Given the description of an element on the screen output the (x, y) to click on. 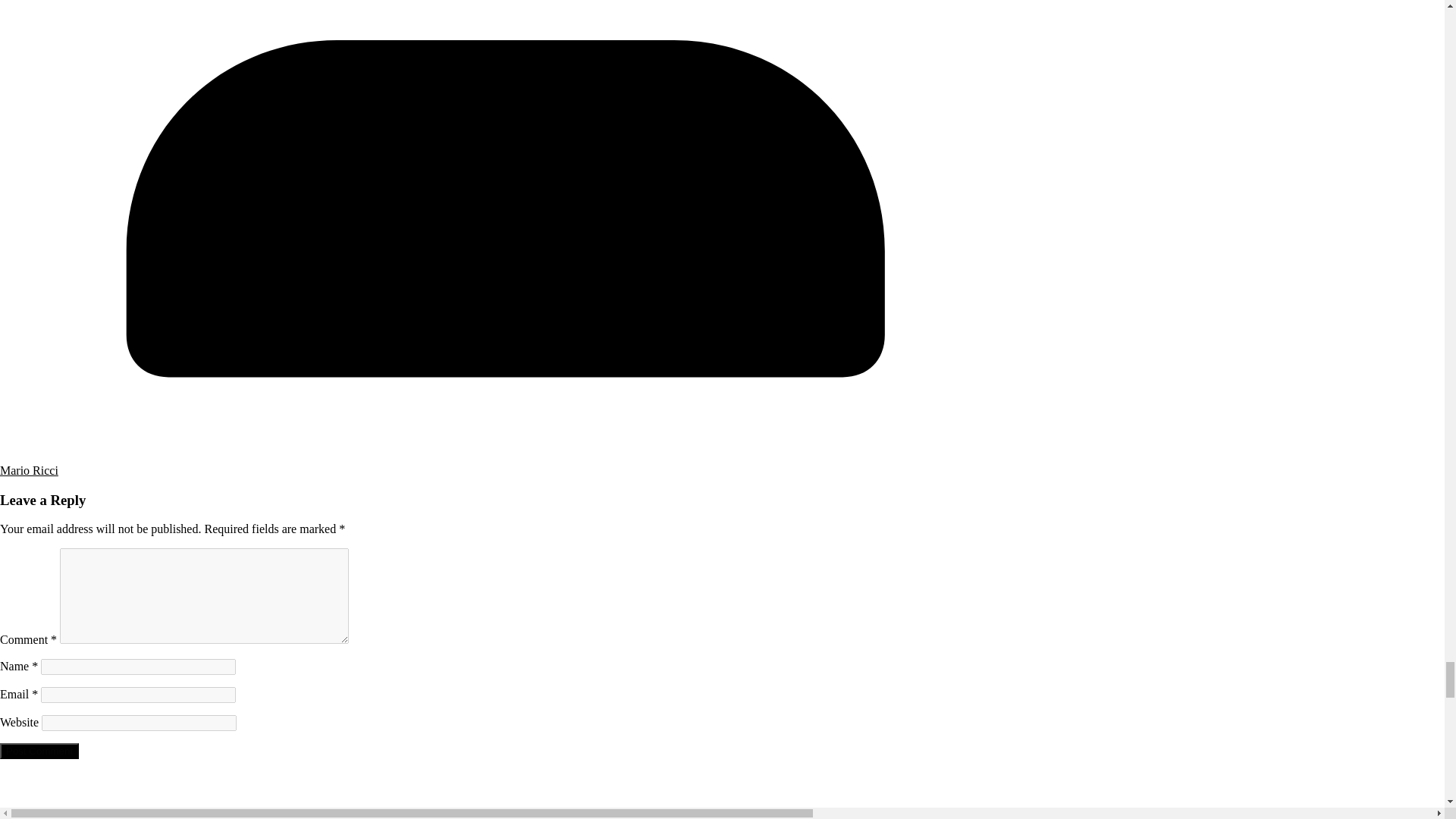
Post Comment (39, 750)
